Given the description of an element on the screen output the (x, y) to click on. 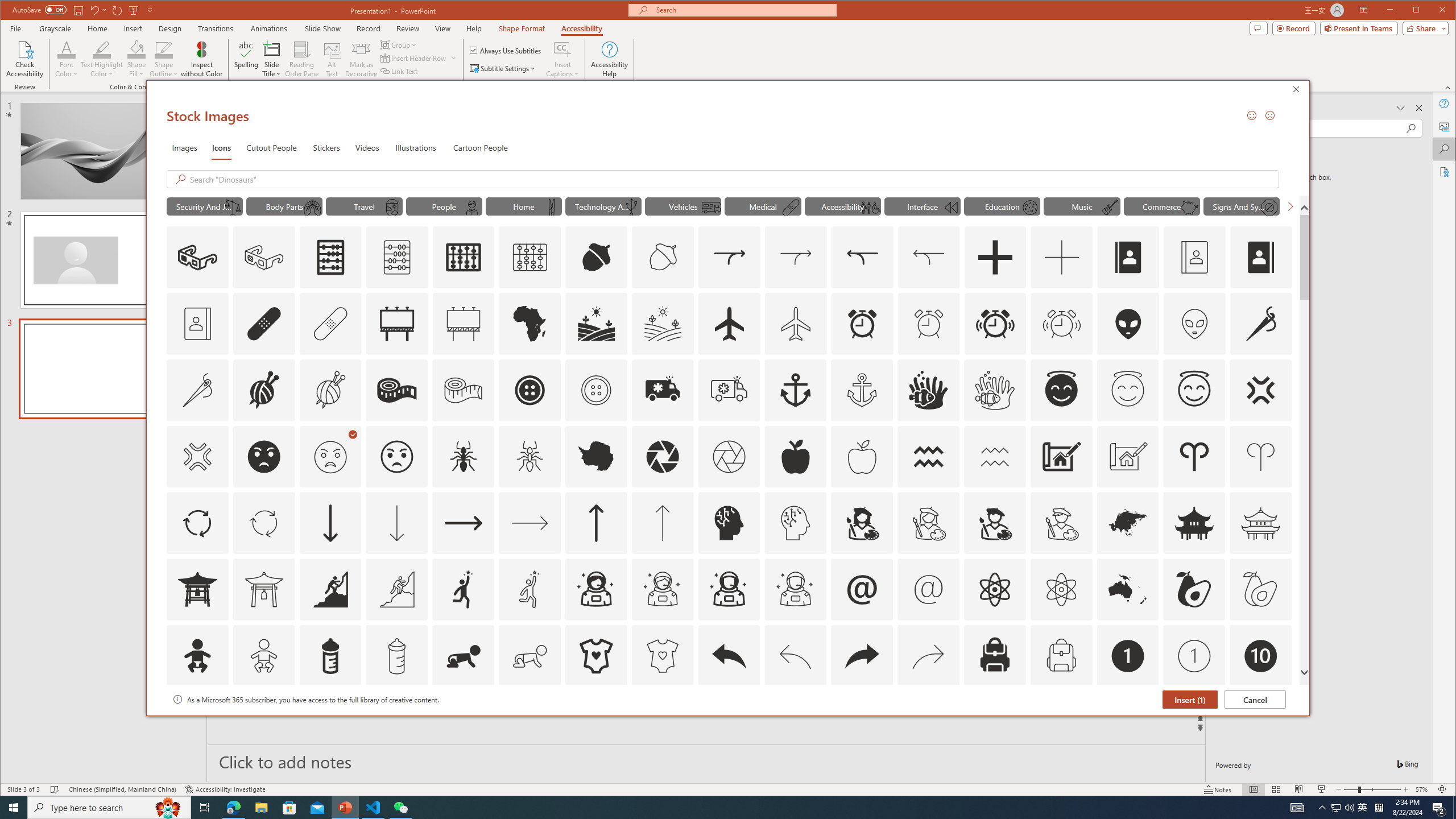
AutomationID: Icons_Acquisition_RTL (861, 256)
Send a Smile (1251, 115)
outline (1193, 389)
AutomationID: Icons_PiggyBank_M (1189, 207)
Link Text (399, 70)
AutomationID: Icons_ArtistFemale (861, 522)
AutomationID: Icons_AngerSymbol (1260, 389)
